Given the description of an element on the screen output the (x, y) to click on. 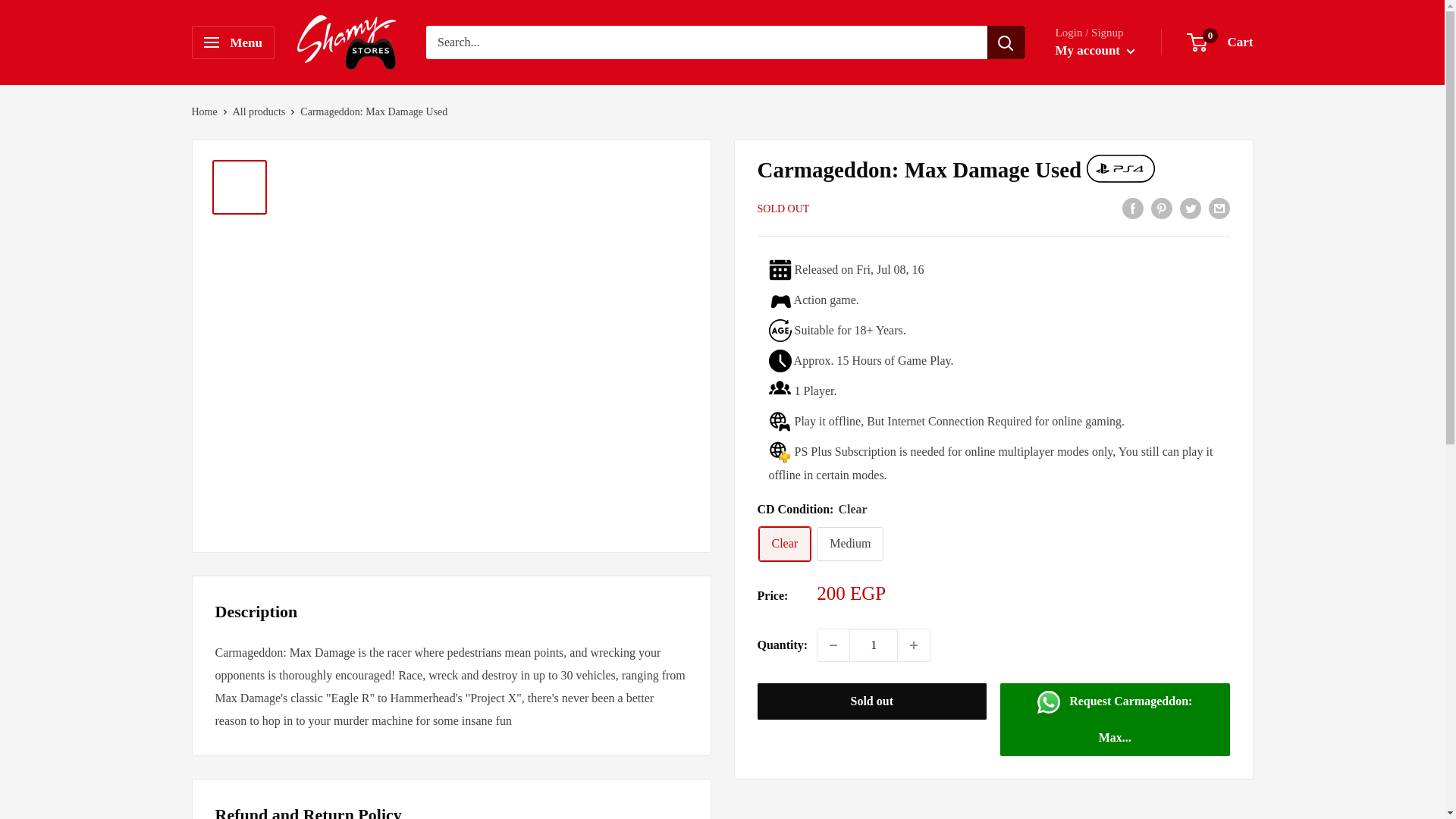
Medium (849, 544)
Clear (784, 544)
Decrease quantity by 1 (832, 644)
1 (873, 644)
Increase quantity by 1 (914, 644)
